Given the description of an element on the screen output the (x, y) to click on. 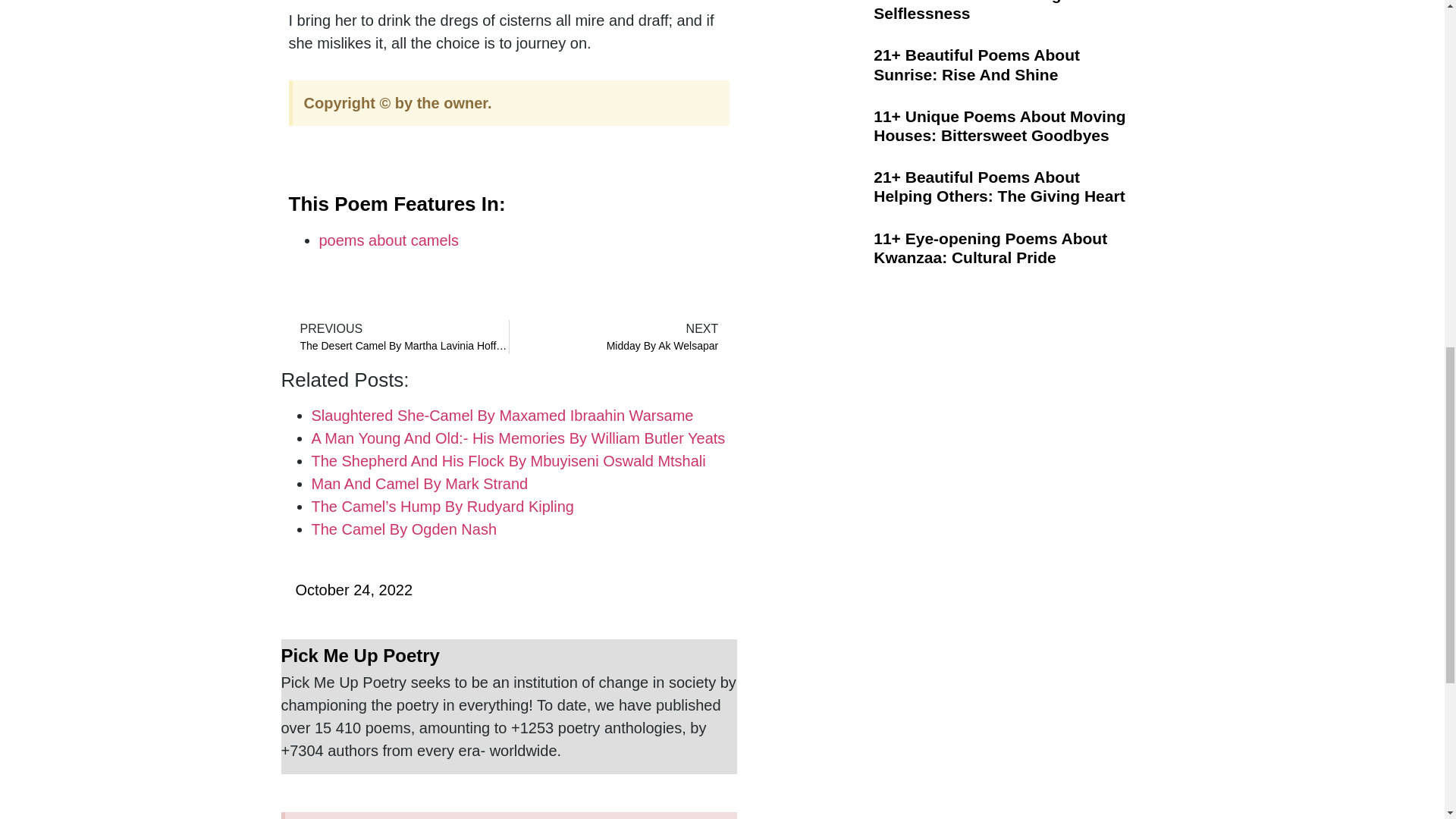
Pick Me Up Poetry (508, 656)
poems about camels (388, 239)
October 24, 2022 (346, 589)
Man And Camel By Mark Strand (419, 483)
Slaughtered She-Camel By Maxamed Ibraahin Warsame (502, 415)
The Shepherd And His Flock By Mbuyiseni Oswald Mtshali (398, 336)
A Man Young And Old:- His Memories By William Butler Yeats (619, 336)
The Camel By Ogden Nash (507, 460)
